Given the description of an element on the screen output the (x, y) to click on. 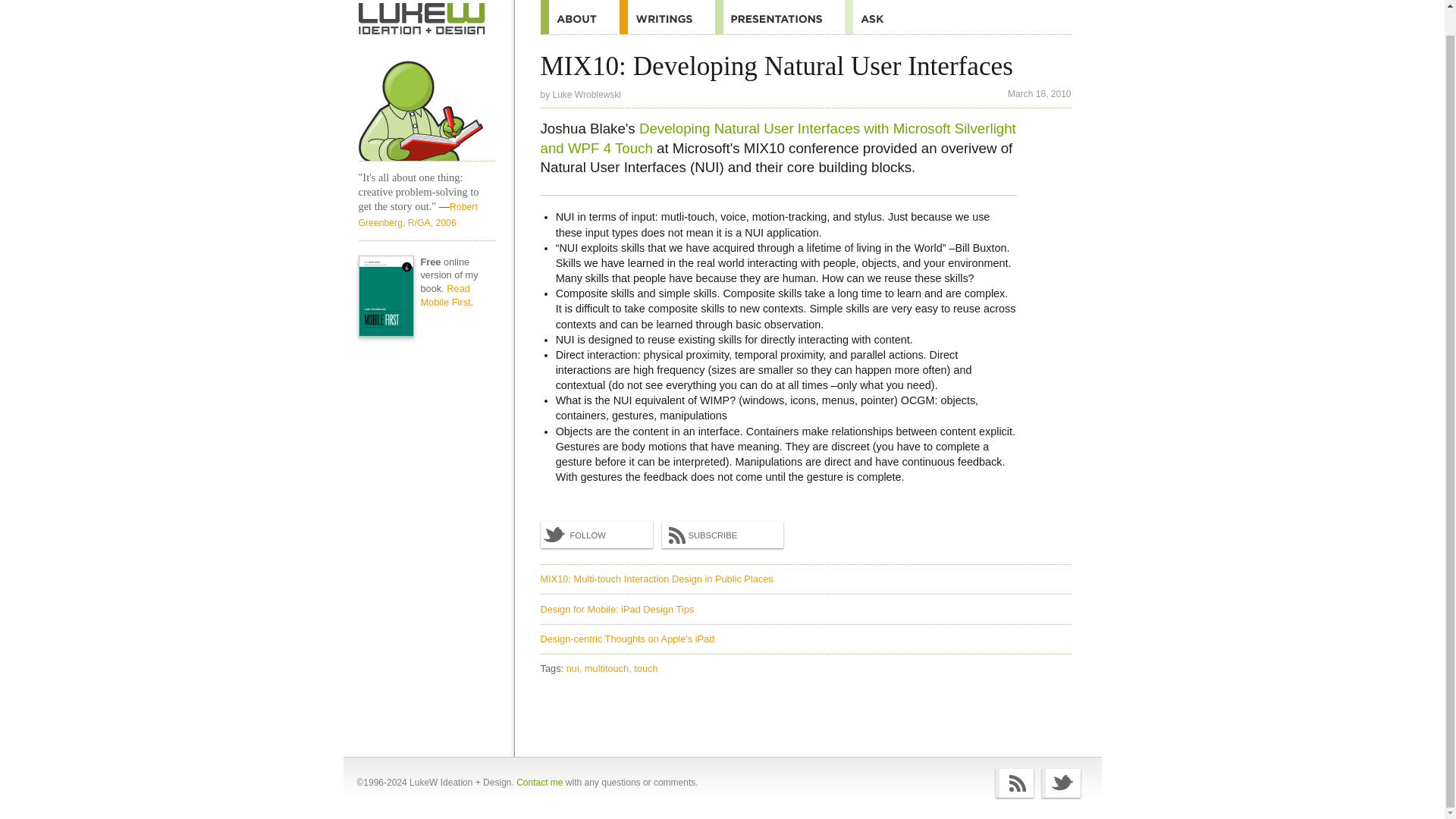
Presentations (779, 17)
Design-centric Thoughts on Apple's iPad (627, 638)
MIX10: Multi-touch Interaction Design in Public Places (656, 578)
touch (645, 668)
Quotes (666, 17)
Read Mobile First (445, 294)
Subscribe to News (722, 533)
Follow on Twitter (1061, 783)
multitouch (608, 668)
nui (574, 668)
About (579, 17)
Follow on Twitter (596, 533)
Design for Mobile: iPad Design Tips (617, 609)
Home (421, 19)
Luke Wroblewski (587, 94)
